Given the description of an element on the screen output the (x, y) to click on. 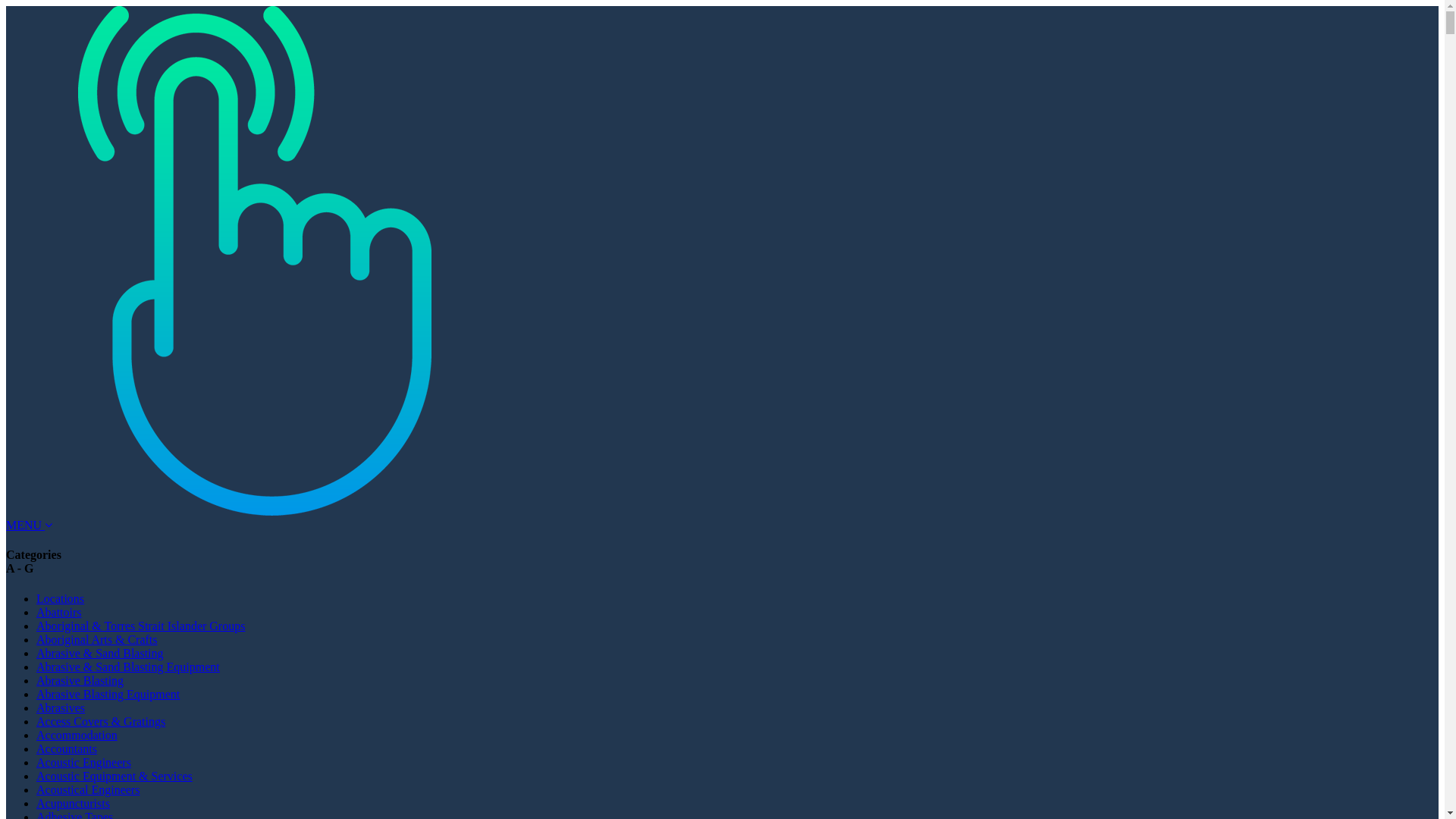
Acoustic Equipment & Services Element type: text (114, 775)
MENU Element type: text (29, 524)
Abrasive Blasting Element type: text (79, 680)
Access Covers & Gratings Element type: text (100, 721)
Acoustic Engineers Element type: text (83, 762)
Abrasive Blasting Equipment Element type: text (107, 693)
Abrasives Element type: text (60, 707)
Acupuncturists Element type: text (72, 803)
Abrasive & Sand Blasting Equipment Element type: text (127, 666)
Abrasive & Sand Blasting Element type: text (99, 652)
Accountants Element type: text (66, 748)
Aboriginal Arts & Crafts Element type: text (96, 639)
Accommodation Element type: text (76, 734)
DBD Element type: hover (260, 260)
Aboriginal & Torres Strait Islander Groups Element type: text (140, 625)
Acoustical Engineers Element type: text (87, 789)
Locations Element type: text (60, 598)
Abattoirs Element type: text (58, 611)
